Given the description of an element on the screen output the (x, y) to click on. 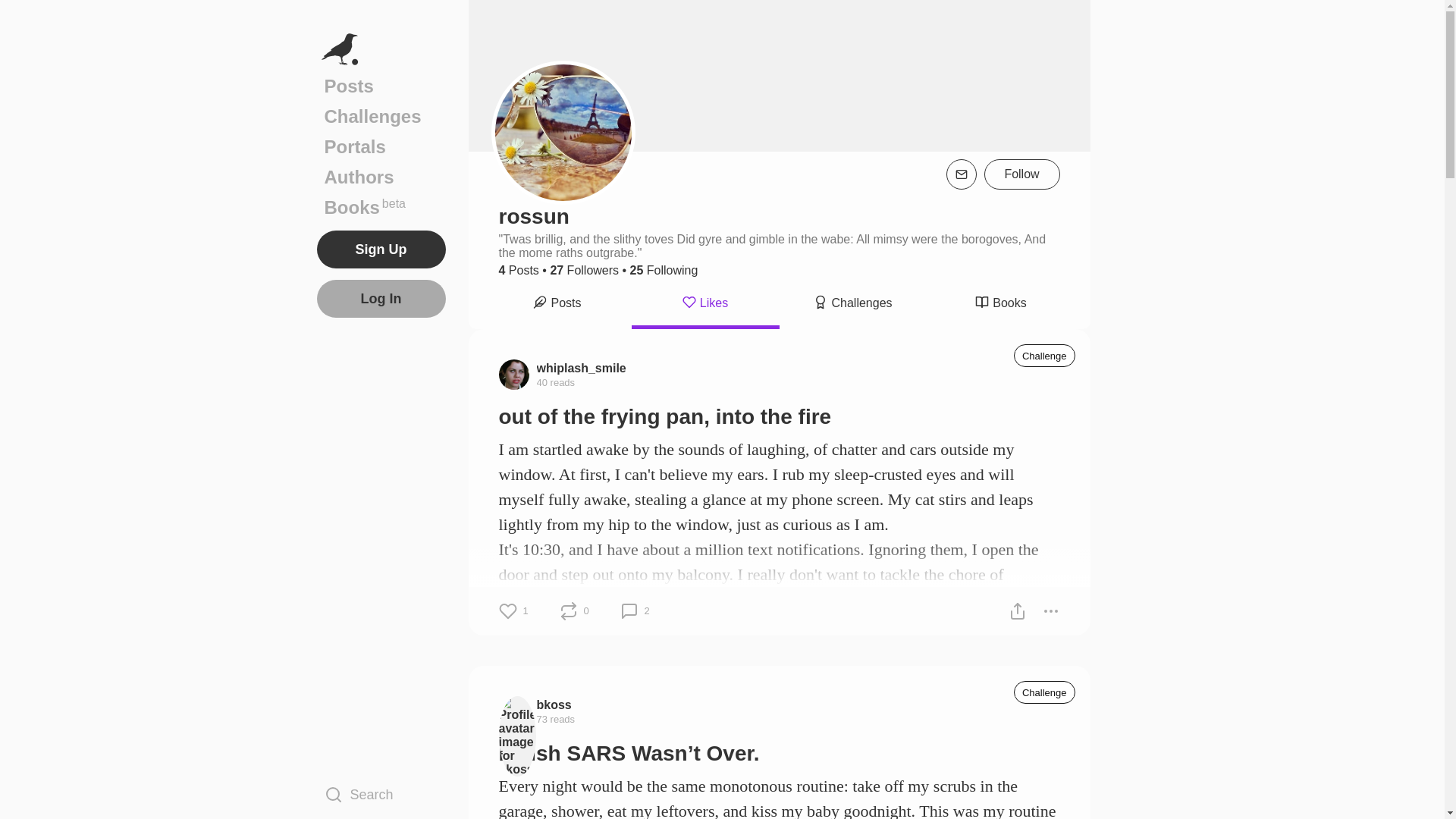
Authors (381, 177)
Challenges (381, 116)
Search (381, 794)
Challenges (852, 305)
Posts (381, 86)
Portals (381, 146)
25 Following (664, 269)
Challenge (1044, 691)
4 Posts (518, 269)
27 Followers (584, 269)
